Given the description of an element on the screen output the (x, y) to click on. 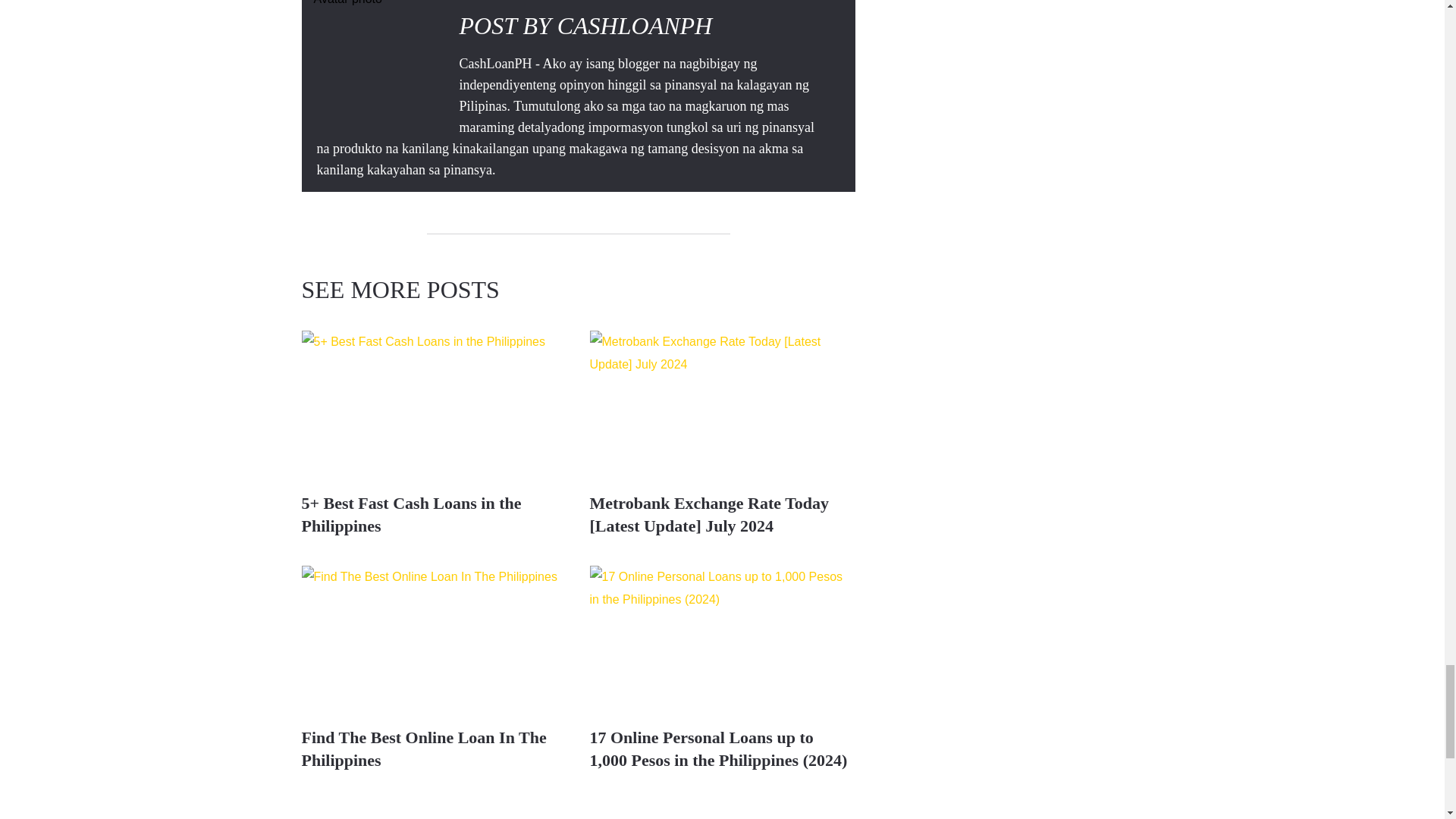
Find The Best Online Loan In The Philippines (434, 639)
Find The Best Online Loan In The Philippines (424, 748)
